Given the description of an element on the screen output the (x, y) to click on. 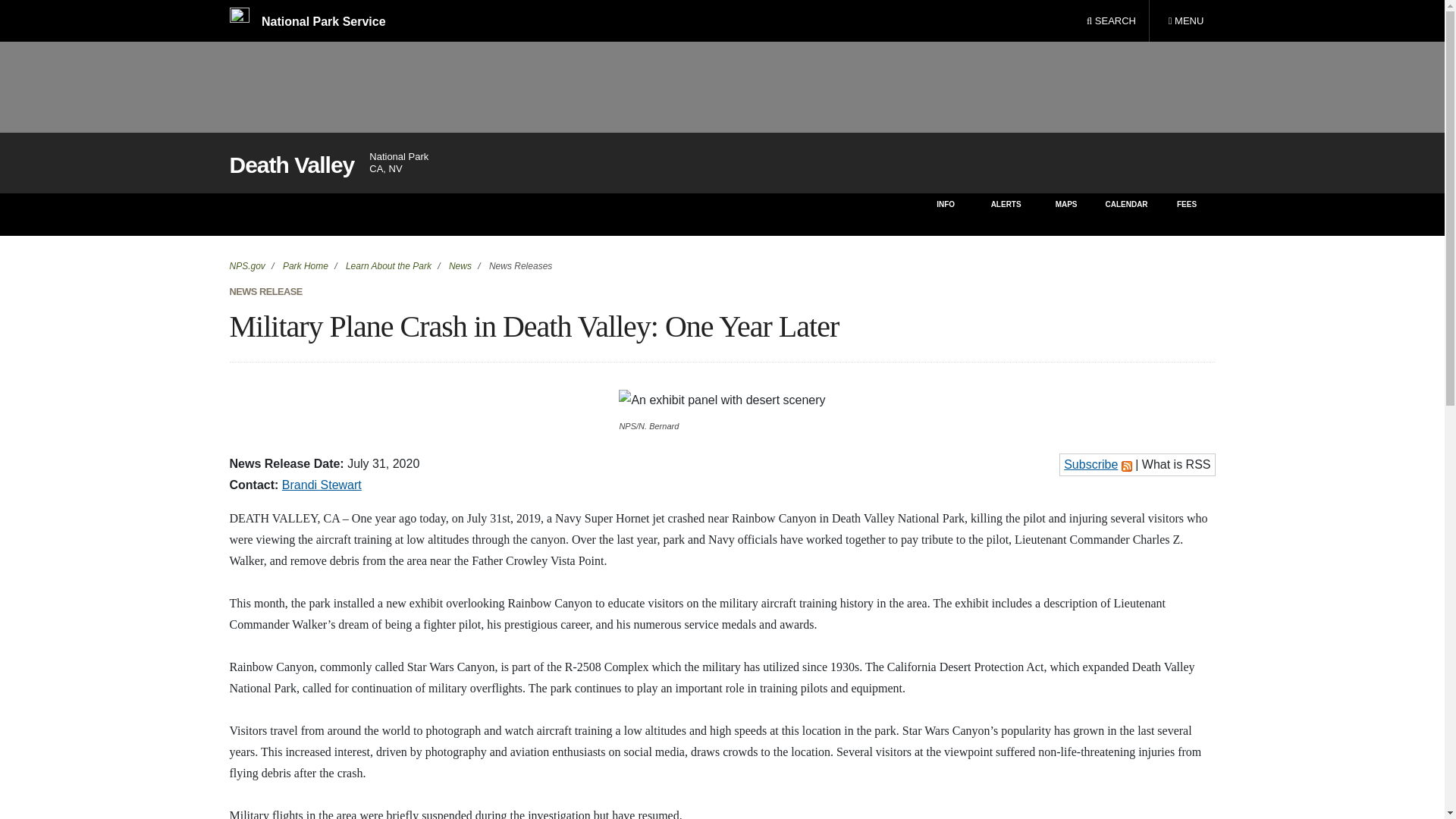
Learn About the Park (386, 266)
Brandi Stewart (321, 484)
Subscribe (1091, 463)
SEARCH (1111, 20)
Park Home (305, 266)
FEES (1186, 214)
New exhibit at Father Crowley Visita Point (1185, 20)
News (721, 400)
ALERTS (458, 266)
CALENDAR (1004, 214)
What is RSS (1125, 214)
NPS.gov (1176, 463)
MAPS (246, 266)
Death Valley (1066, 214)
